Given the description of an element on the screen output the (x, y) to click on. 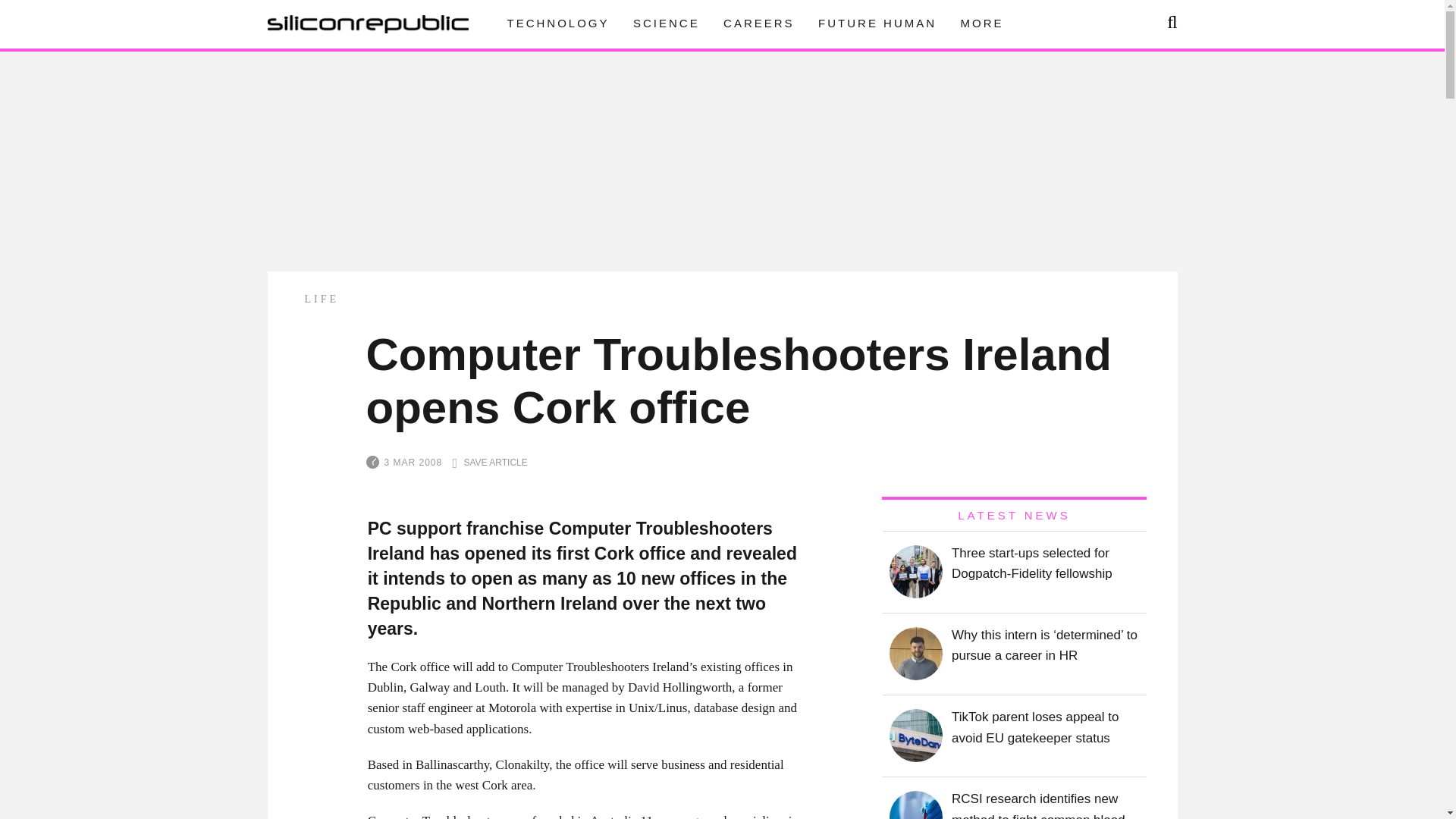
SCIENCE (666, 22)
TECHNOLOGY (557, 22)
